Given the description of an element on the screen output the (x, y) to click on. 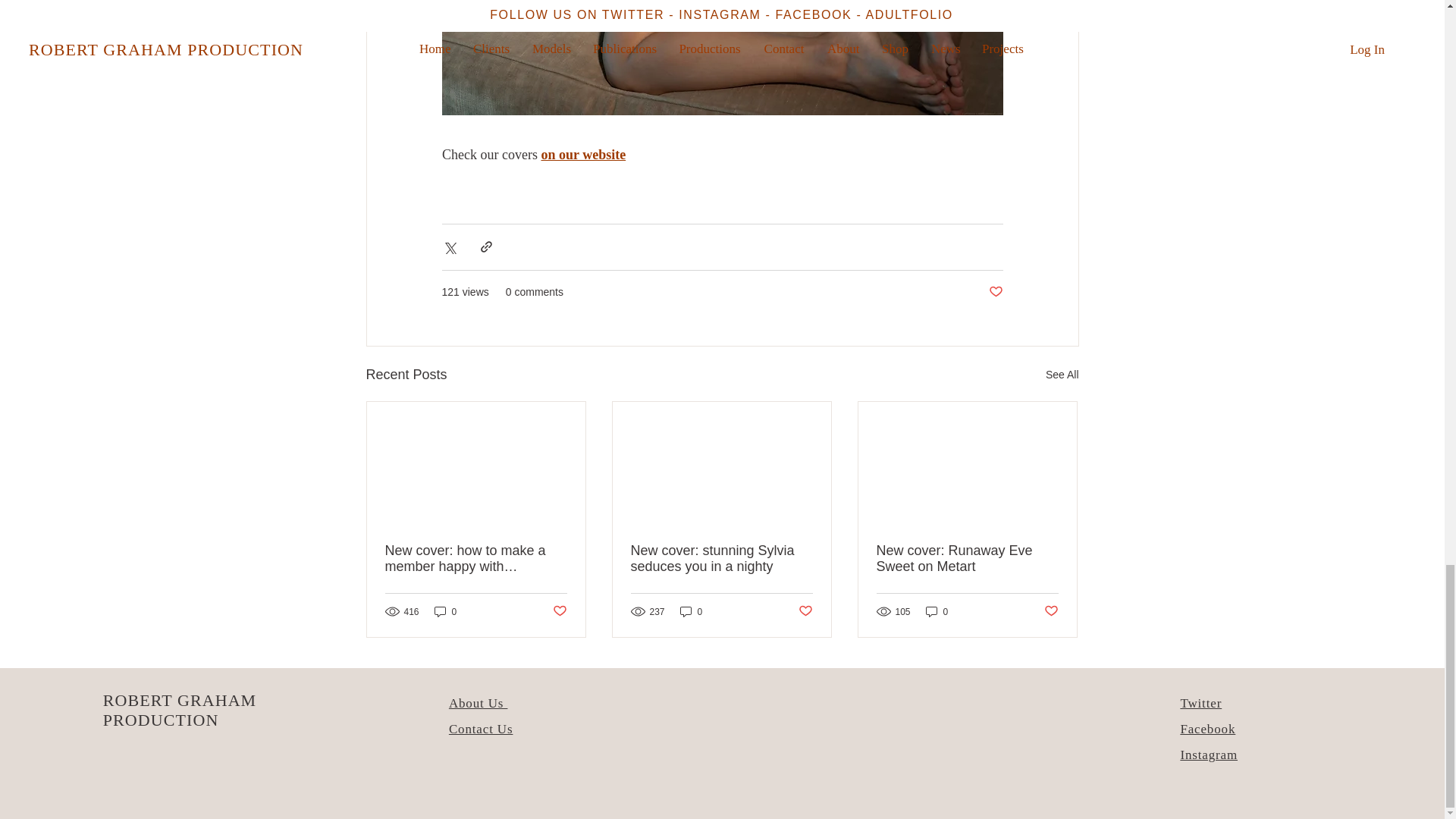
See All (1061, 374)
on our website (583, 154)
Post not marked as liked (995, 292)
